Given the description of an element on the screen output the (x, y) to click on. 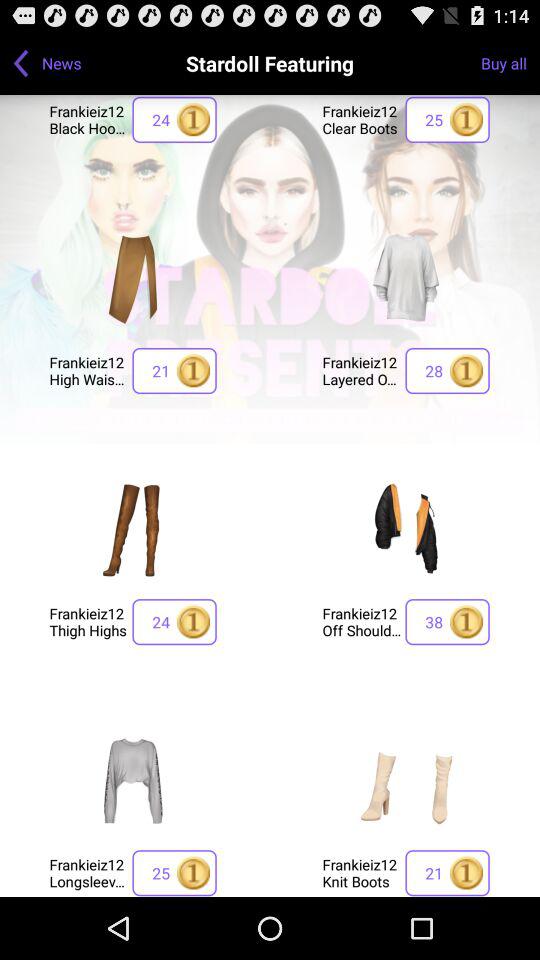
open frankieiz12 layered oversize item (361, 370)
